Given the description of an element on the screen output the (x, y) to click on. 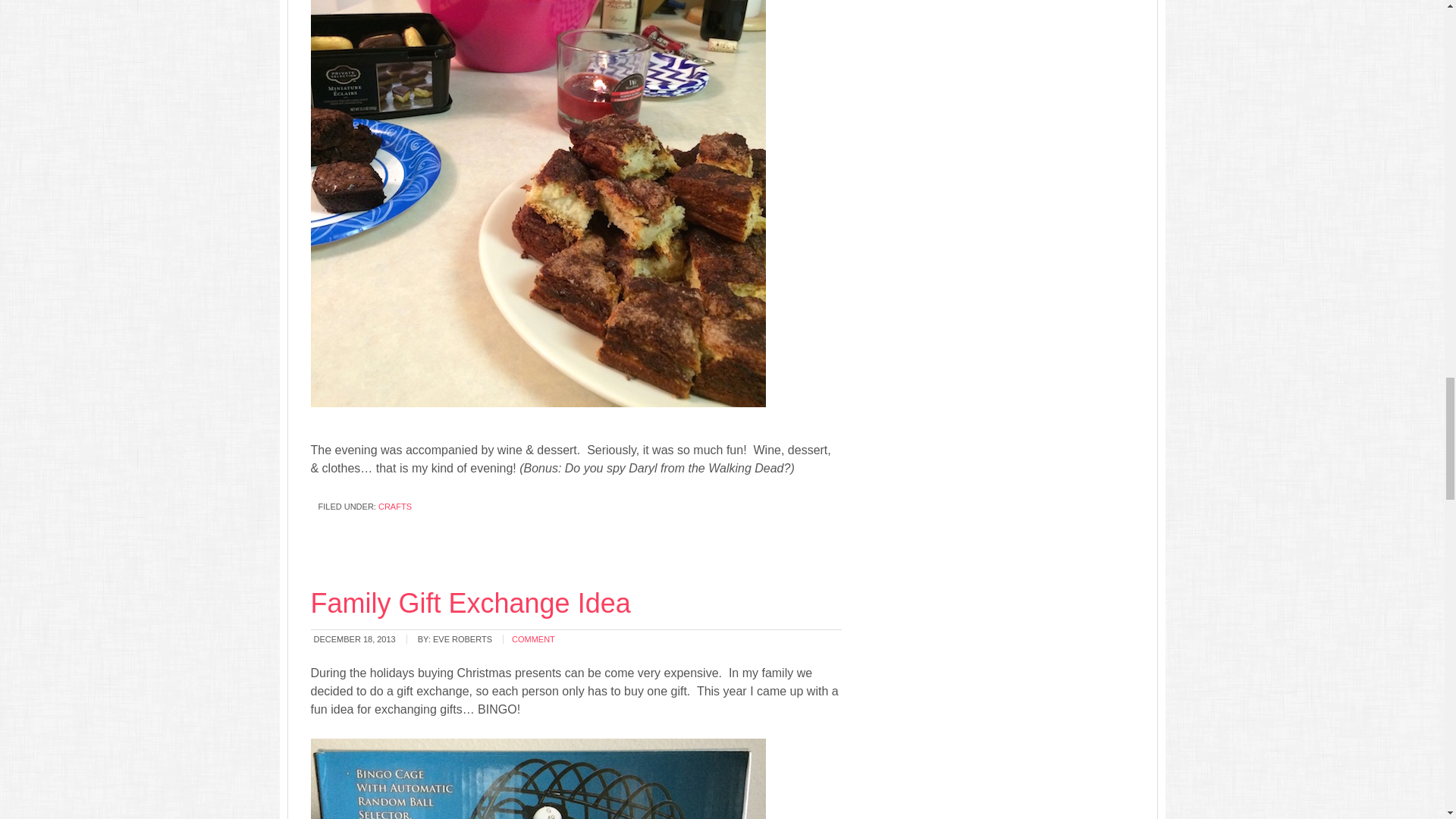
CRAFTS (395, 506)
COMMENT (533, 638)
Family Gift Exchange Idea (470, 603)
